Given the description of an element on the screen output the (x, y) to click on. 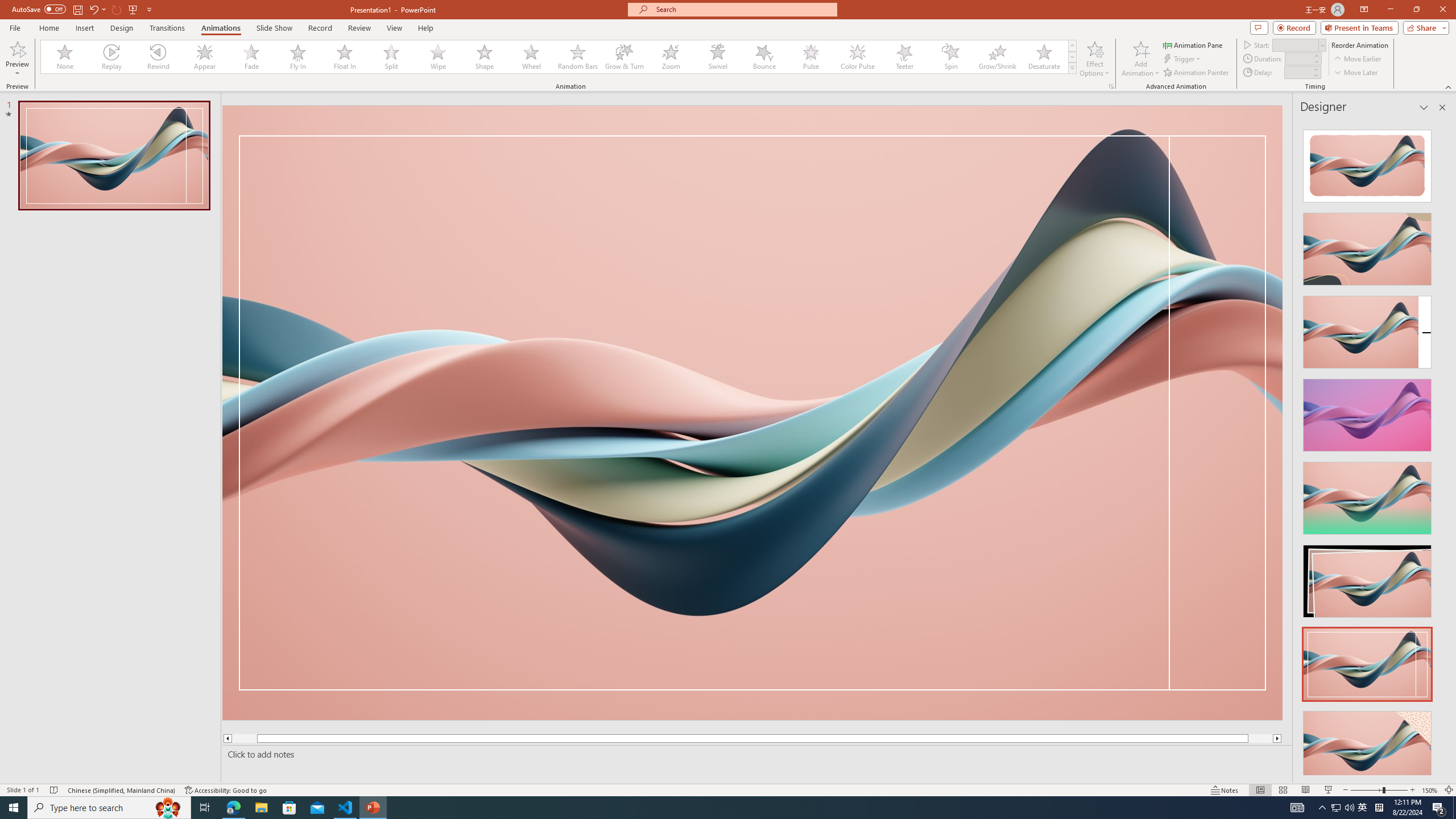
Bounce (764, 56)
Swivel (717, 56)
Zoom 150% (1430, 790)
AutomationID: AnimationGallery (558, 56)
Class: NetUIScrollBar (1441, 447)
Fade (251, 56)
Rewind (158, 56)
Replay (111, 56)
